Given the description of an element on the screen output the (x, y) to click on. 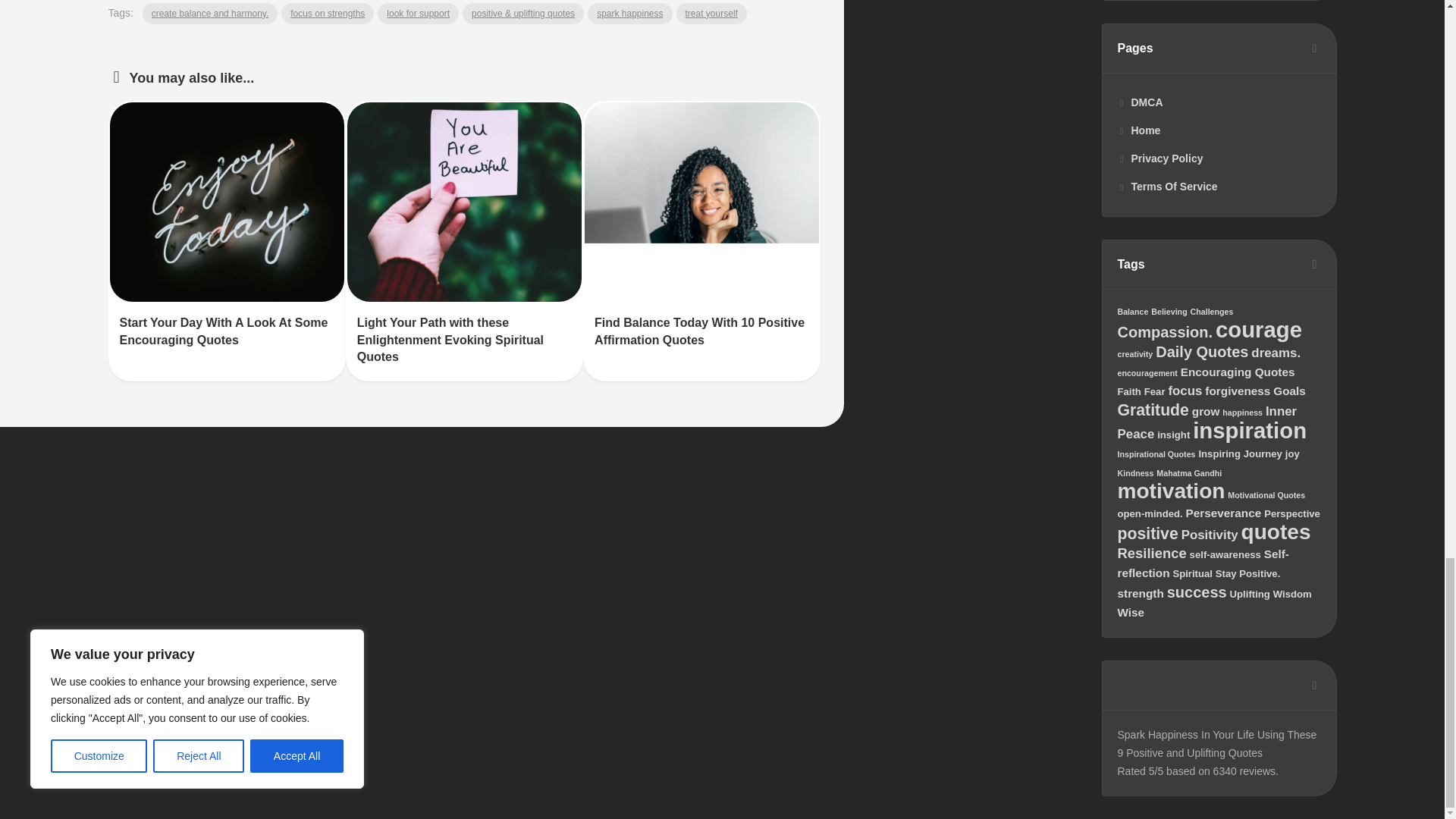
create balance and harmony. (210, 13)
look for support (417, 13)
treat yourself (711, 13)
Start Your Day With A Look At Some Encouraging Quotes (224, 330)
focus on strengths (327, 13)
spark happiness (629, 13)
